Given the description of an element on the screen output the (x, y) to click on. 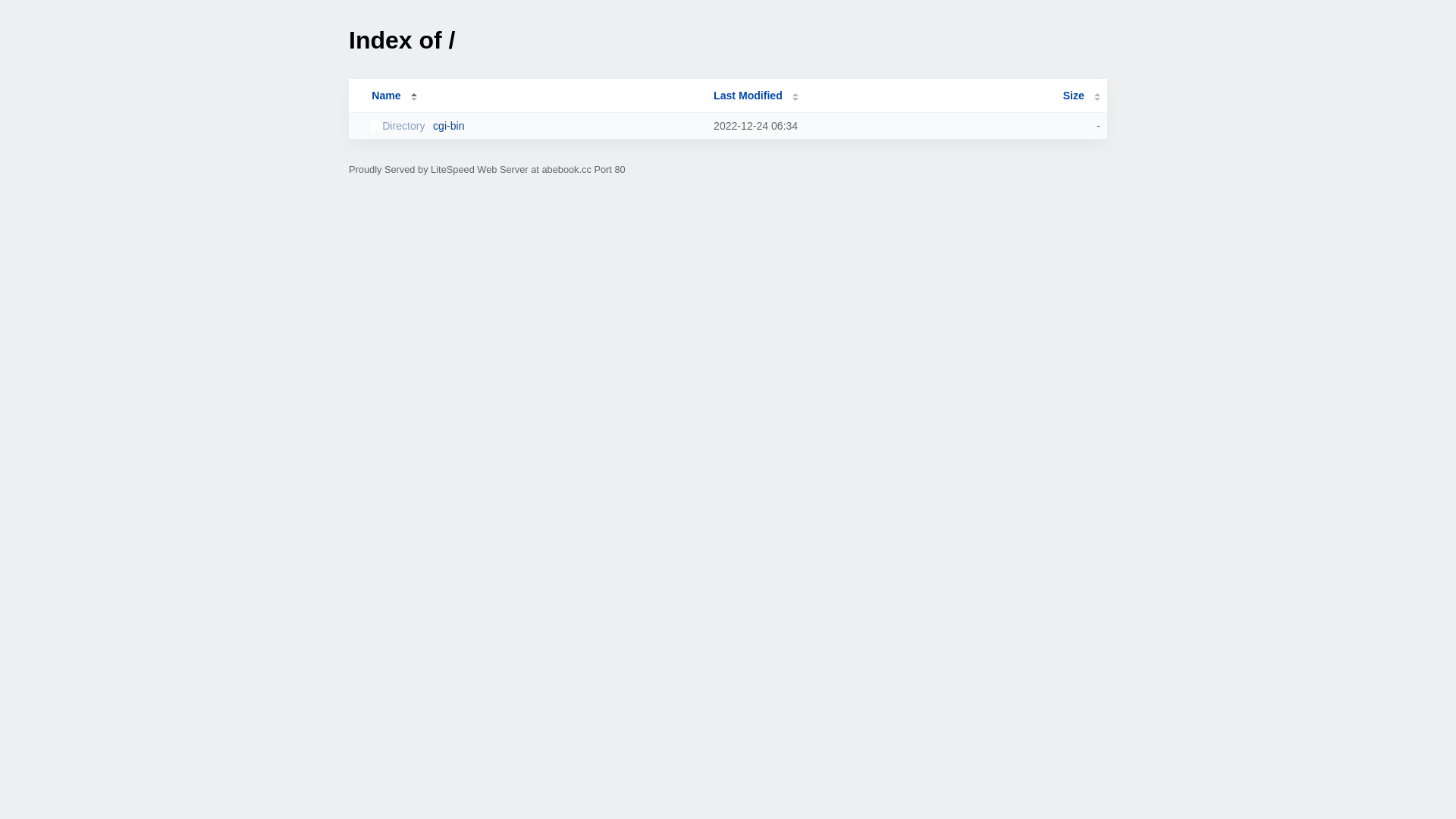
cgi-bin Element type: text (534, 125)
Size Element type: text (1081, 95)
Last Modified Element type: text (755, 95)
Name Element type: text (385, 95)
